Given the description of an element on the screen output the (x, y) to click on. 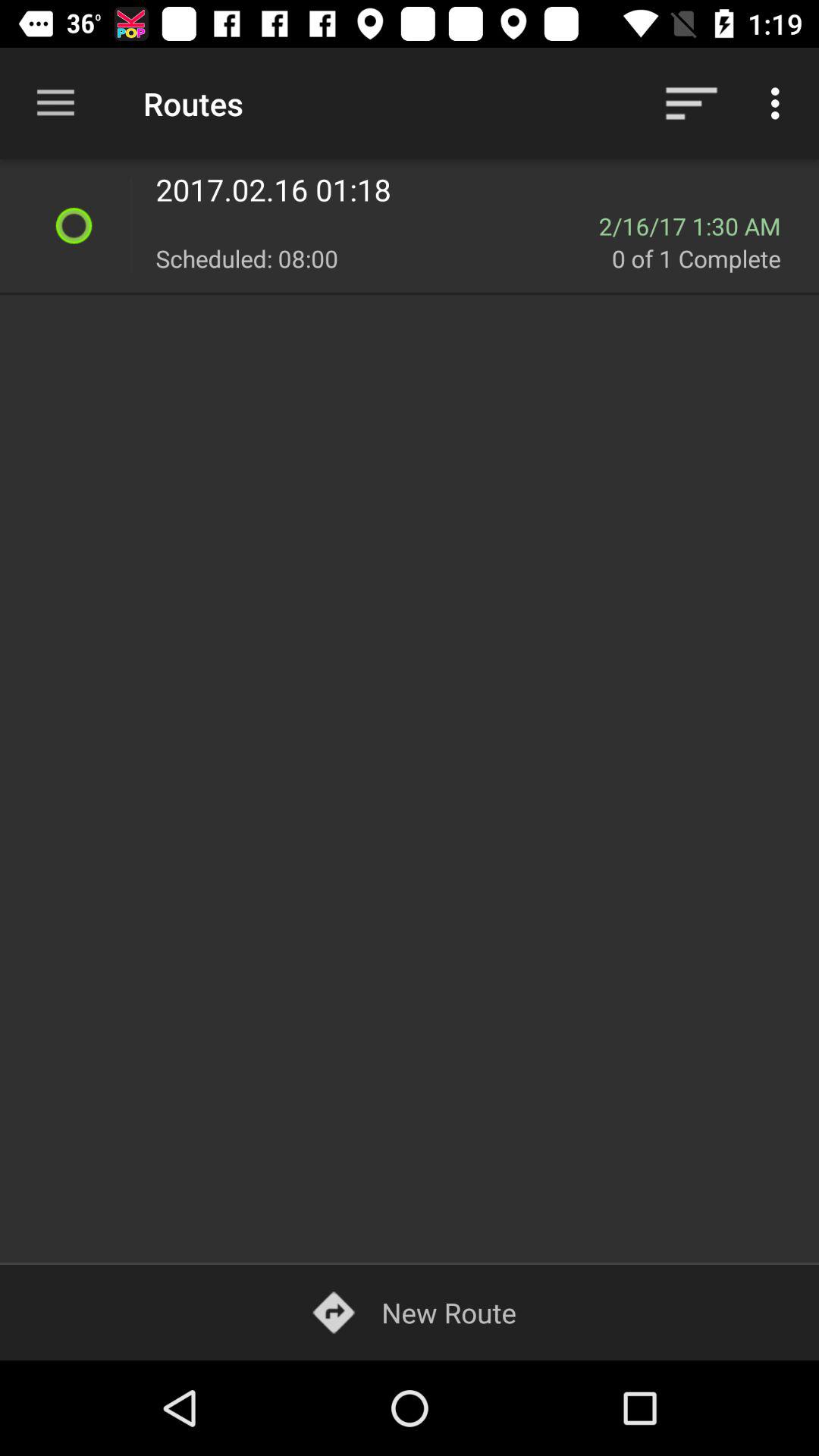
turn on 2017 02 16 item (477, 189)
